Given the description of an element on the screen output the (x, y) to click on. 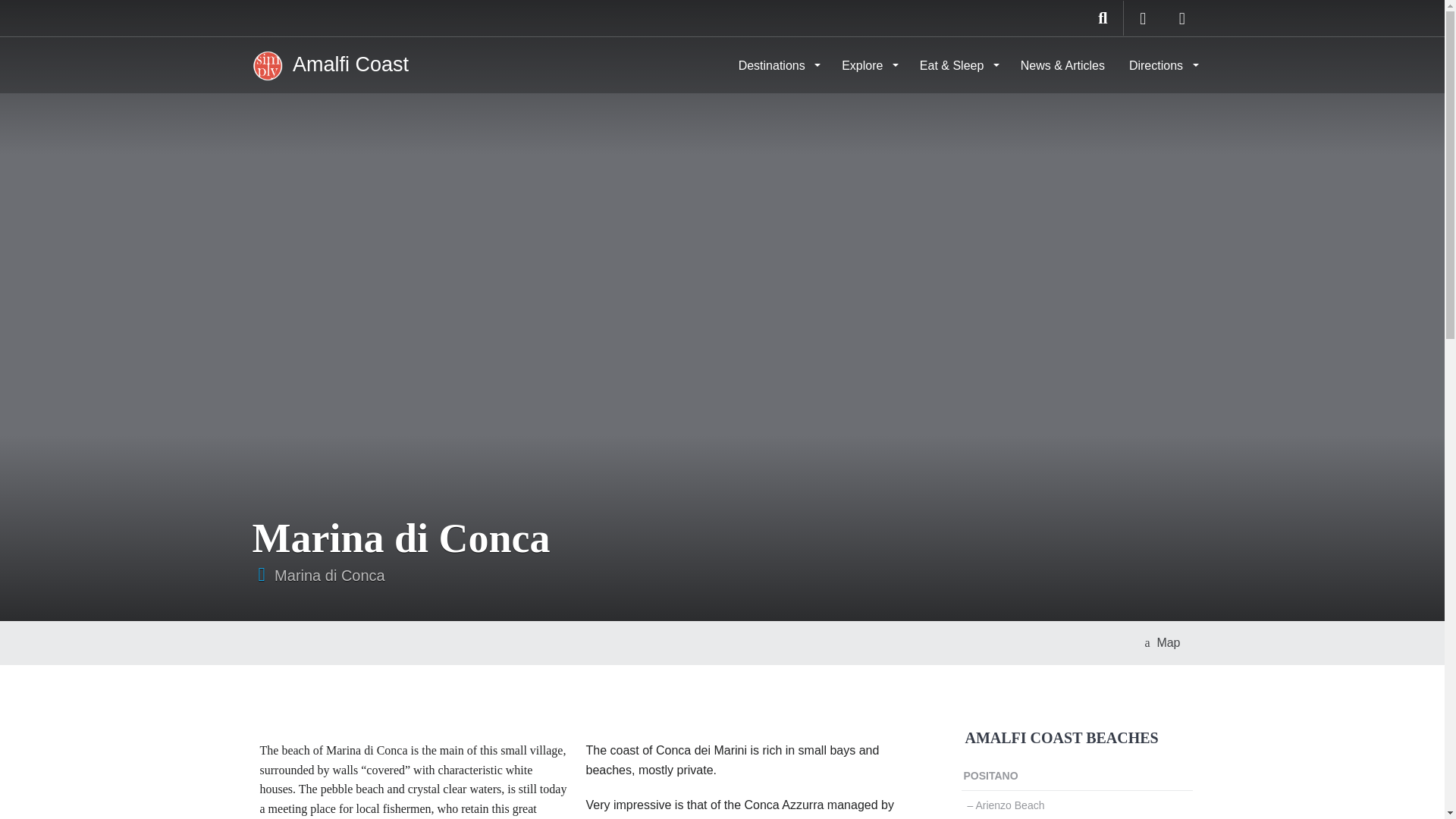
 Amalfi Coast (329, 63)
  Map (1162, 642)
Simply Amalfi Coast (329, 63)
Marina di Conca (330, 575)
Directions (1162, 64)
Toggle Map (1162, 642)
Explore (868, 64)
Destinations (777, 64)
POSITANO (1076, 776)
